Given the description of an element on the screen output the (x, y) to click on. 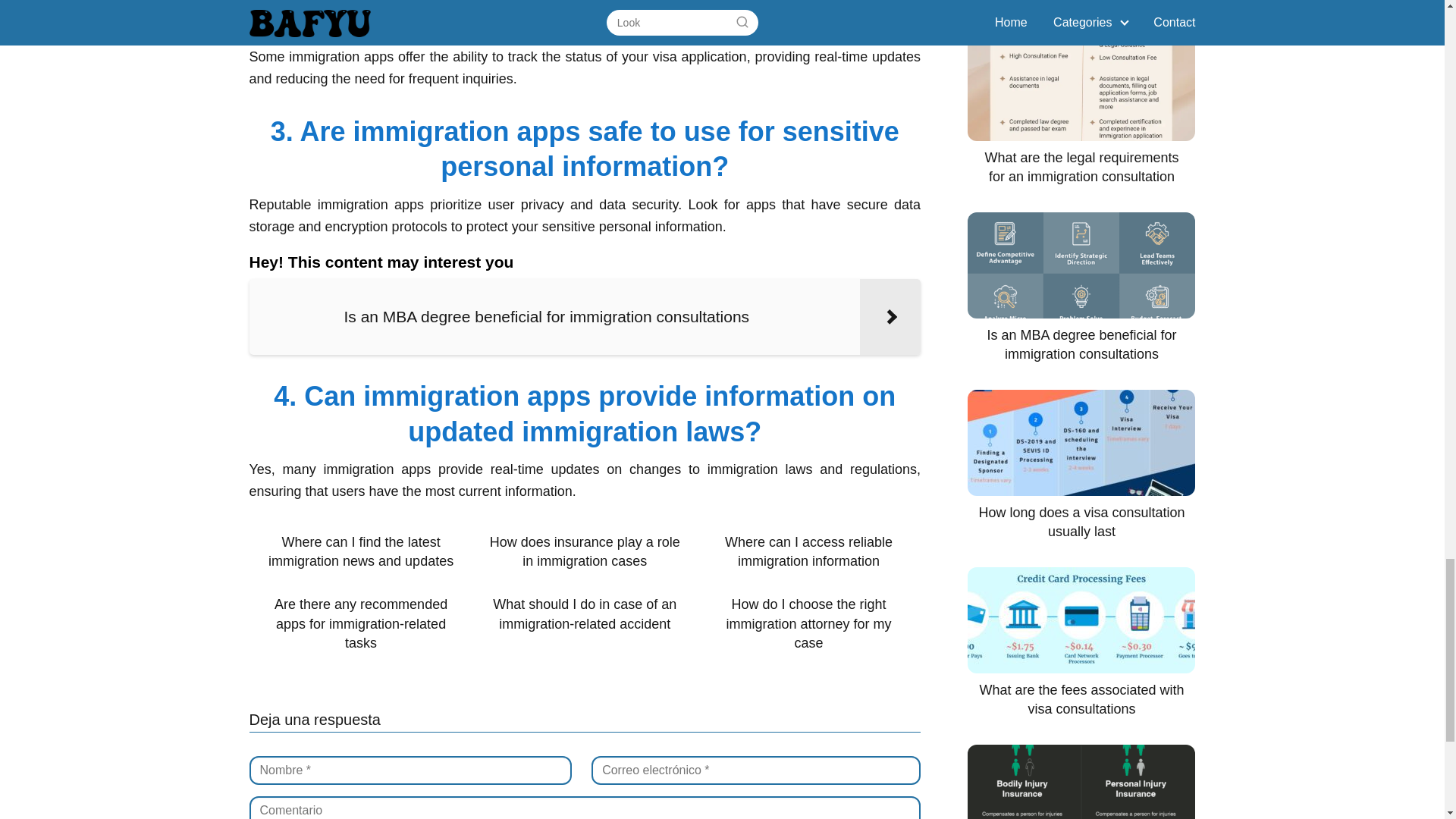
Where can I access reliable immigration information (808, 551)
How does insurance play a role in immigration cases (584, 551)
How do I choose the right immigration attorney for my case (808, 623)
What should I do in case of an immigration-related accident (584, 614)
Are there any recommended apps for immigration-related tasks (361, 623)
Is an MBA degree beneficial for immigration consultations (584, 316)
Where can I find the latest immigration news and updates (361, 551)
